Given the description of an element on the screen output the (x, y) to click on. 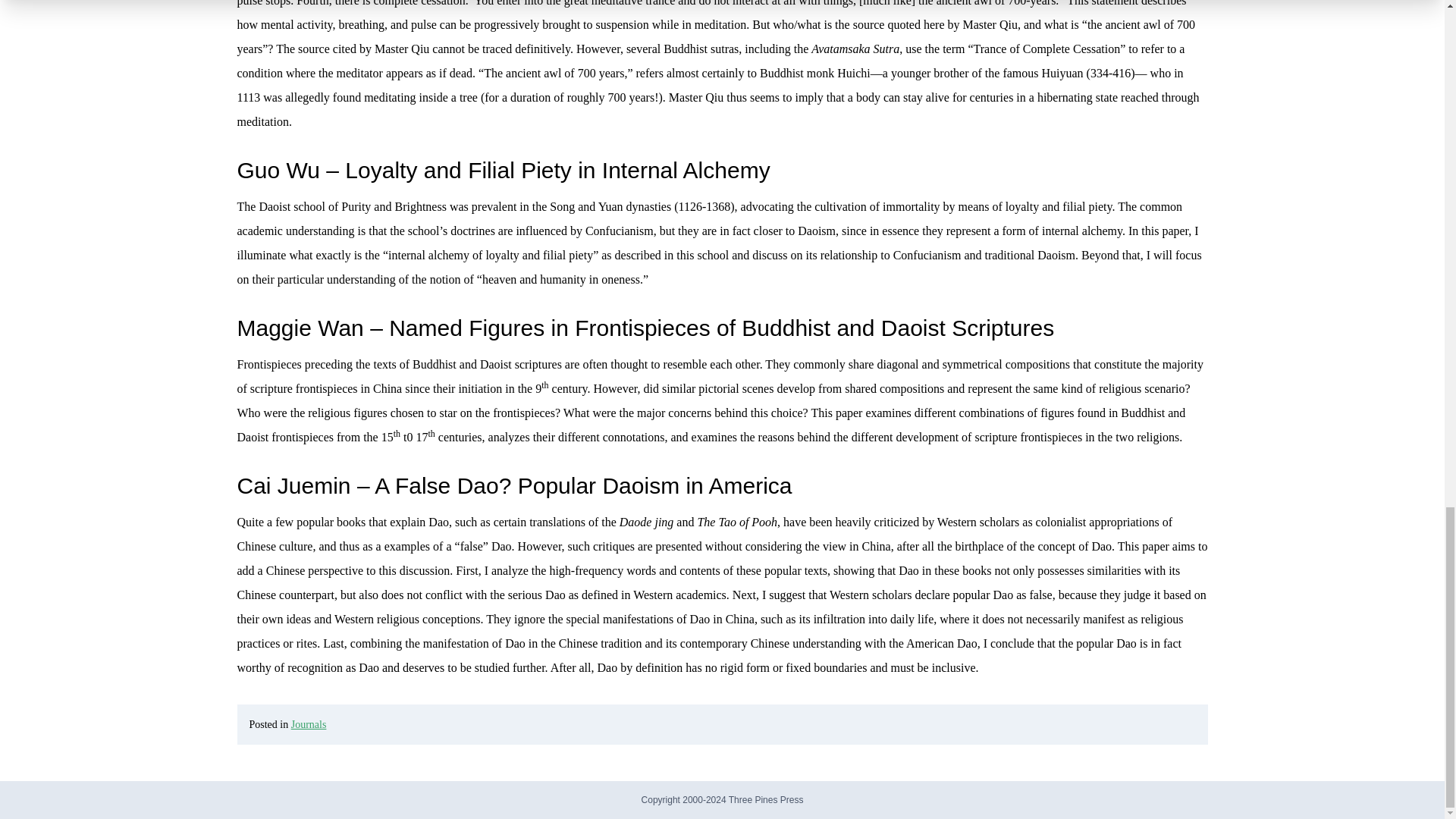
Journals (308, 724)
